Given the description of an element on the screen output the (x, y) to click on. 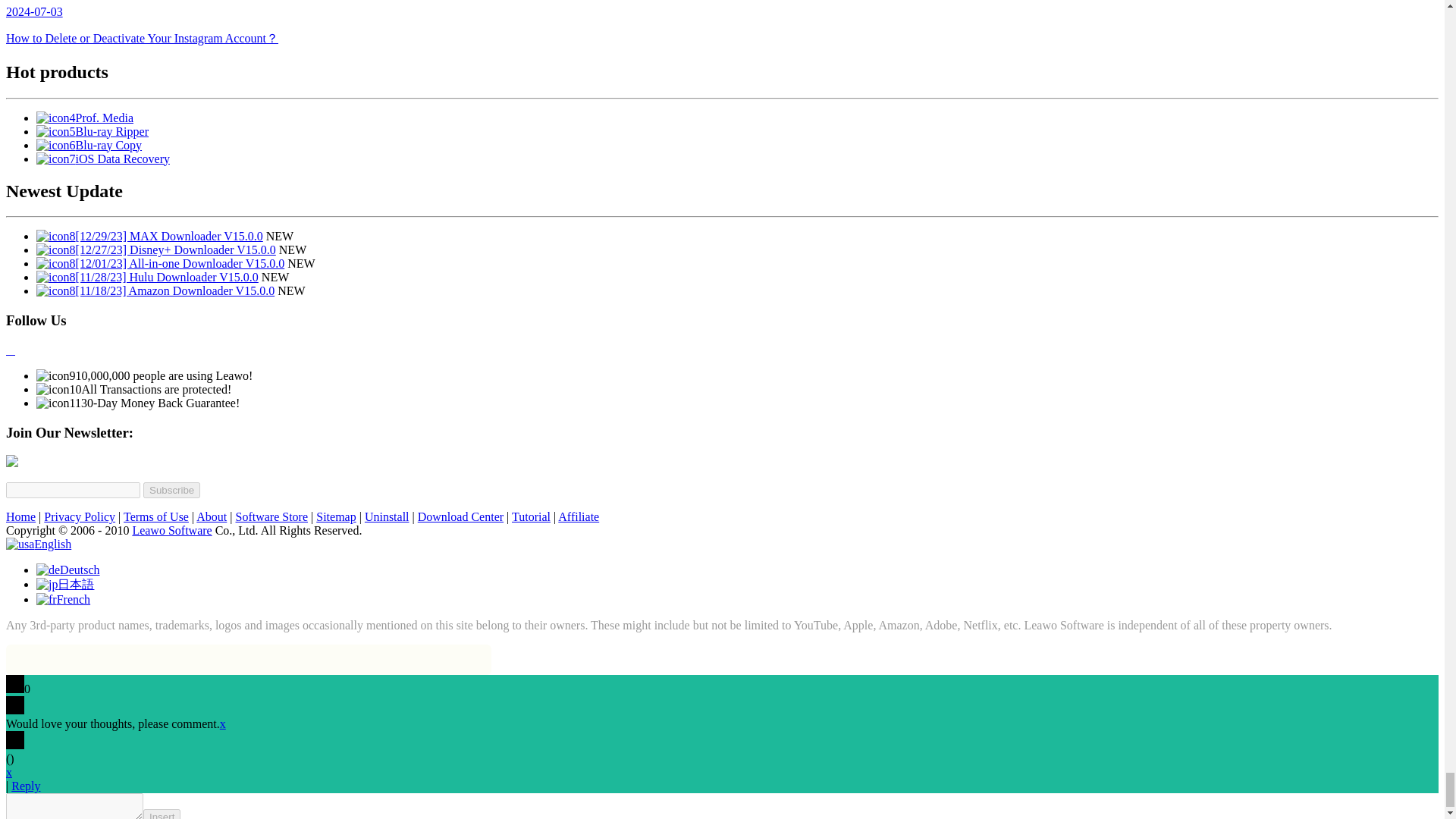
Subscribe (171, 489)
